Given the description of an element on the screen output the (x, y) to click on. 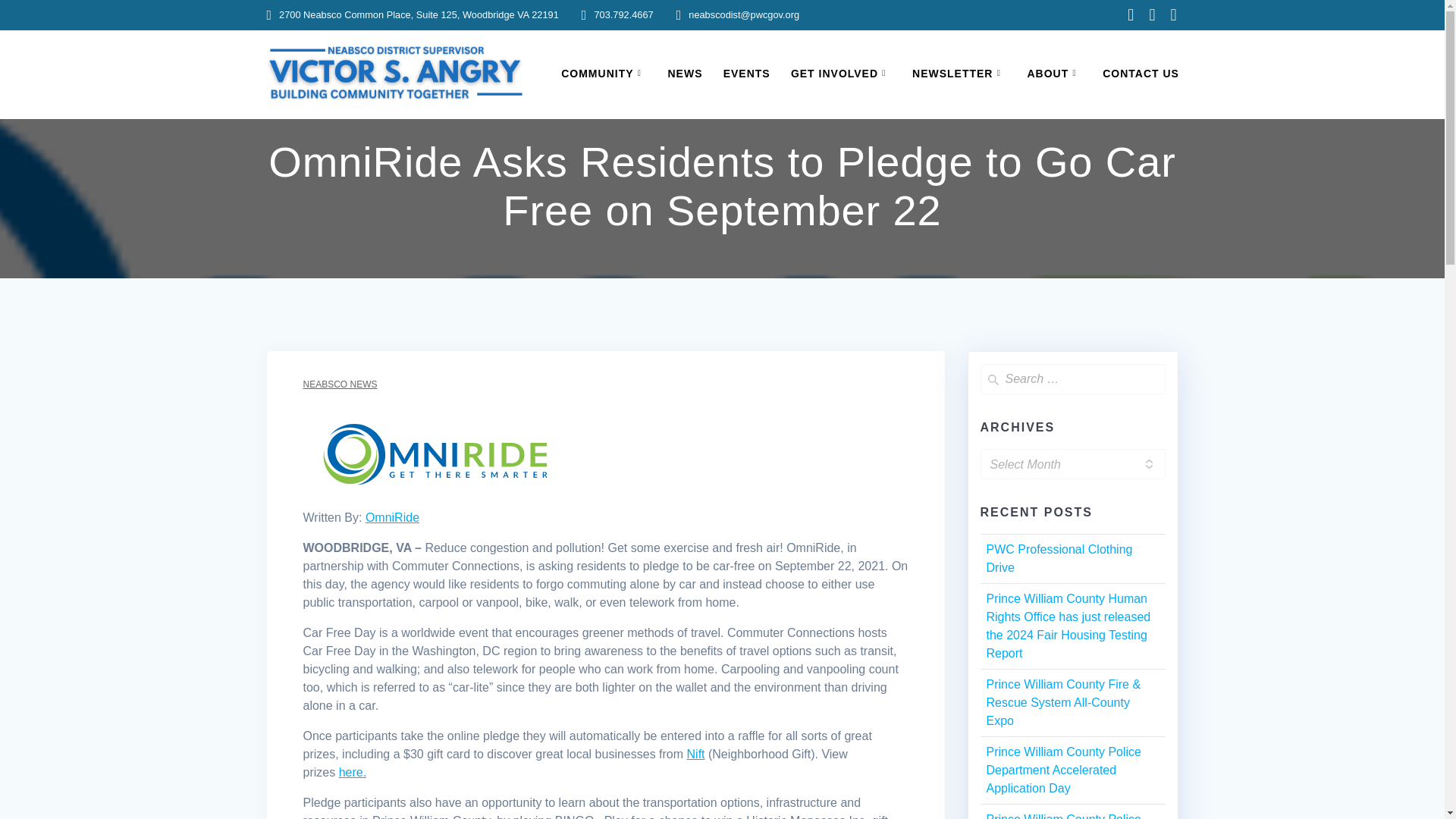
COMMUNITY (603, 74)
